Given the description of an element on the screen output the (x, y) to click on. 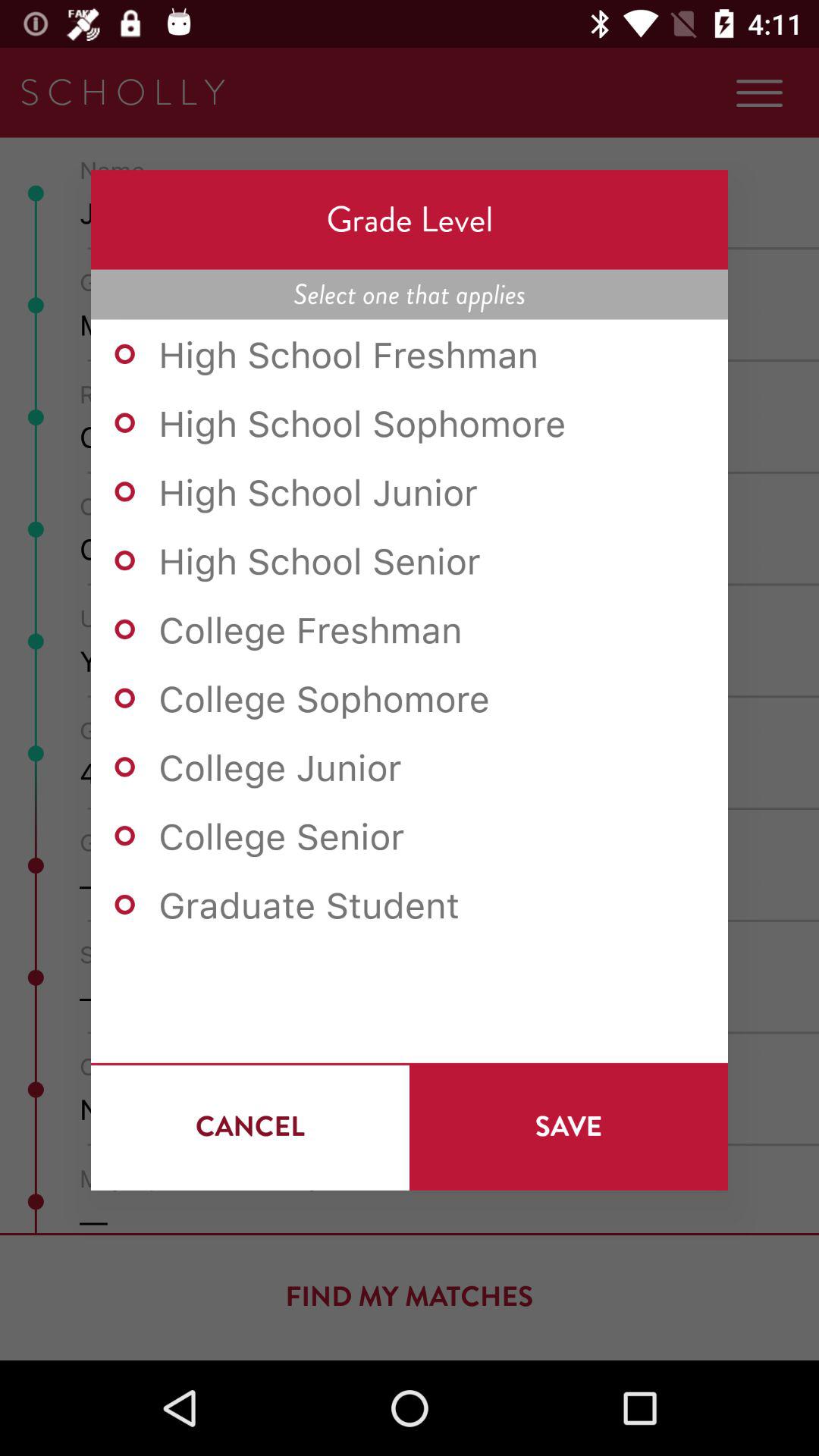
select icon to the left of the save (250, 1126)
